Given the description of an element on the screen output the (x, y) to click on. 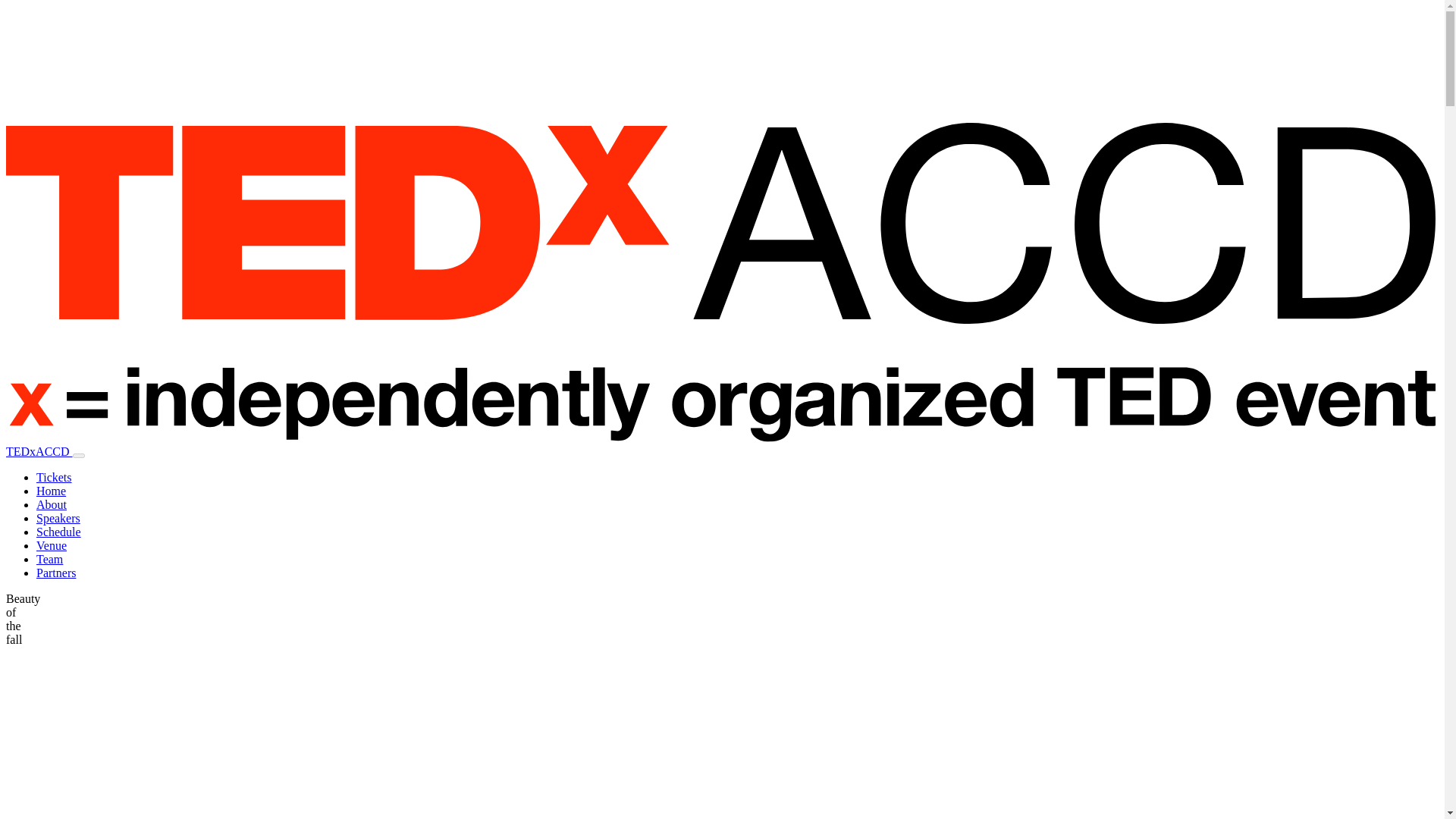
Venue (51, 545)
Team (49, 558)
Schedule (58, 531)
Speakers (58, 517)
Home (50, 490)
About (51, 504)
Tickets (53, 477)
Partners (55, 572)
